Given the description of an element on the screen output the (x, y) to click on. 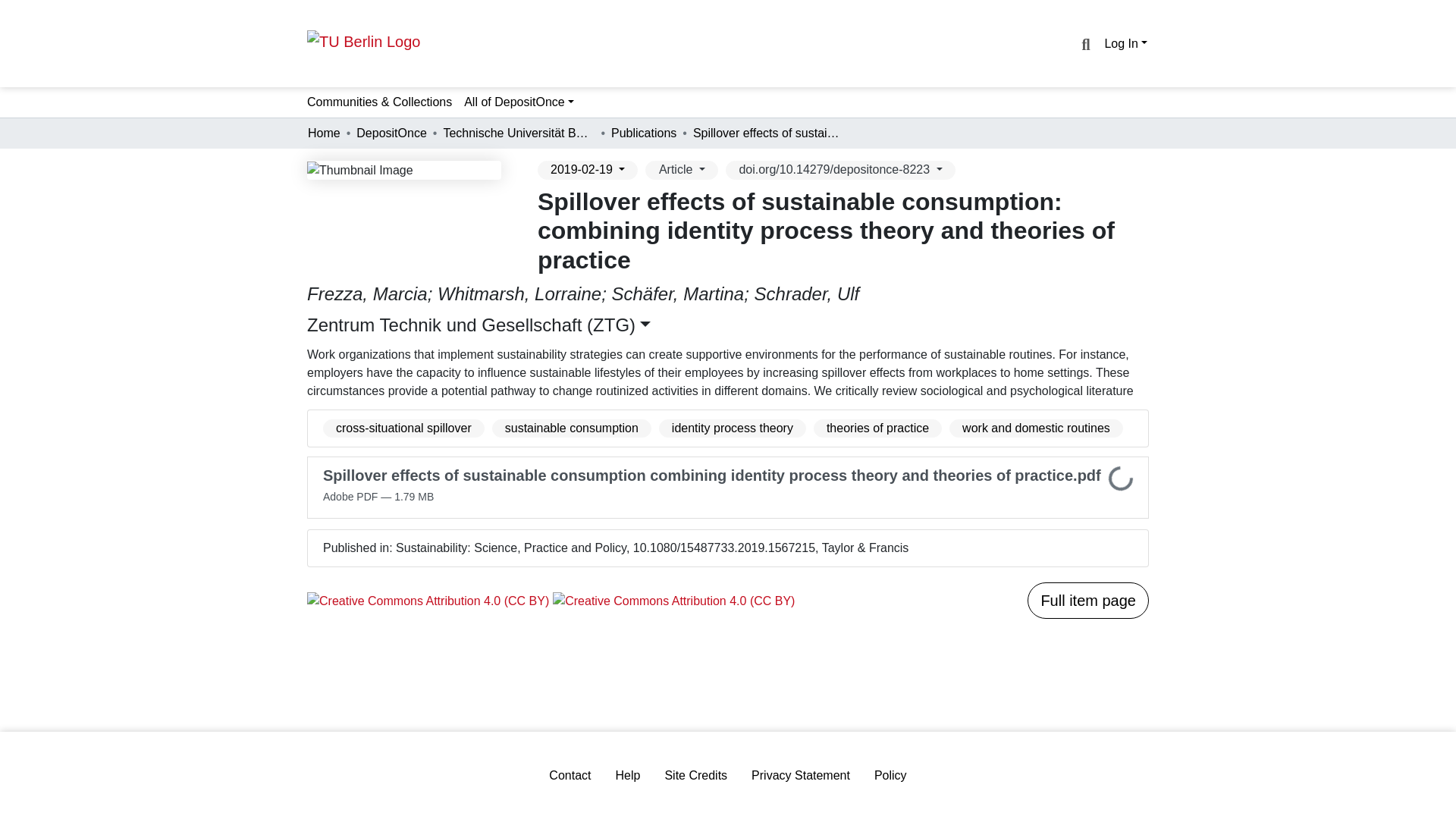
Article (681, 169)
Publications (644, 133)
Site Credits (695, 775)
Privacy Statement (800, 775)
DepositOnce (391, 133)
Frezza, Marcia (367, 293)
Log In (1125, 42)
theories of practice (877, 428)
All of DepositOnce (518, 101)
work and domestic routines (1035, 428)
Search (1084, 45)
Home (323, 133)
Help (628, 775)
TU Berlin (363, 40)
Schrader, Ulf (807, 293)
